Given the description of an element on the screen output the (x, y) to click on. 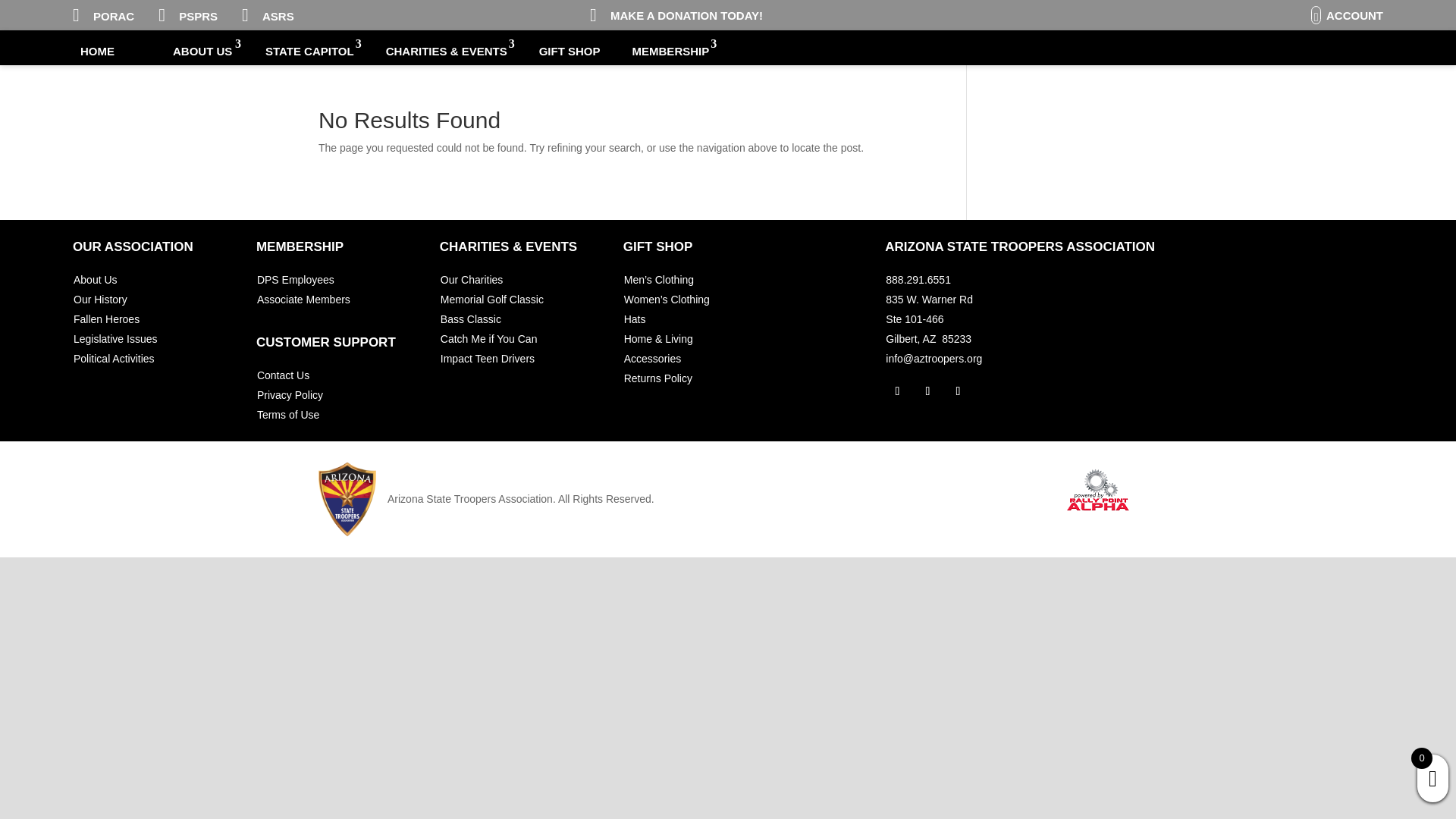
STATE CAPITOL (309, 51)
MAKE A DONATION TODAY! (686, 15)
Follow on Facebook (896, 391)
MEMBERSHIP (670, 51)
PSPRS (197, 15)
HOME (110, 51)
ABOUT US (203, 51)
ASRS (278, 15)
PORAC (113, 15)
PoweredByLittle (1099, 490)
